Given the description of an element on the screen output the (x, y) to click on. 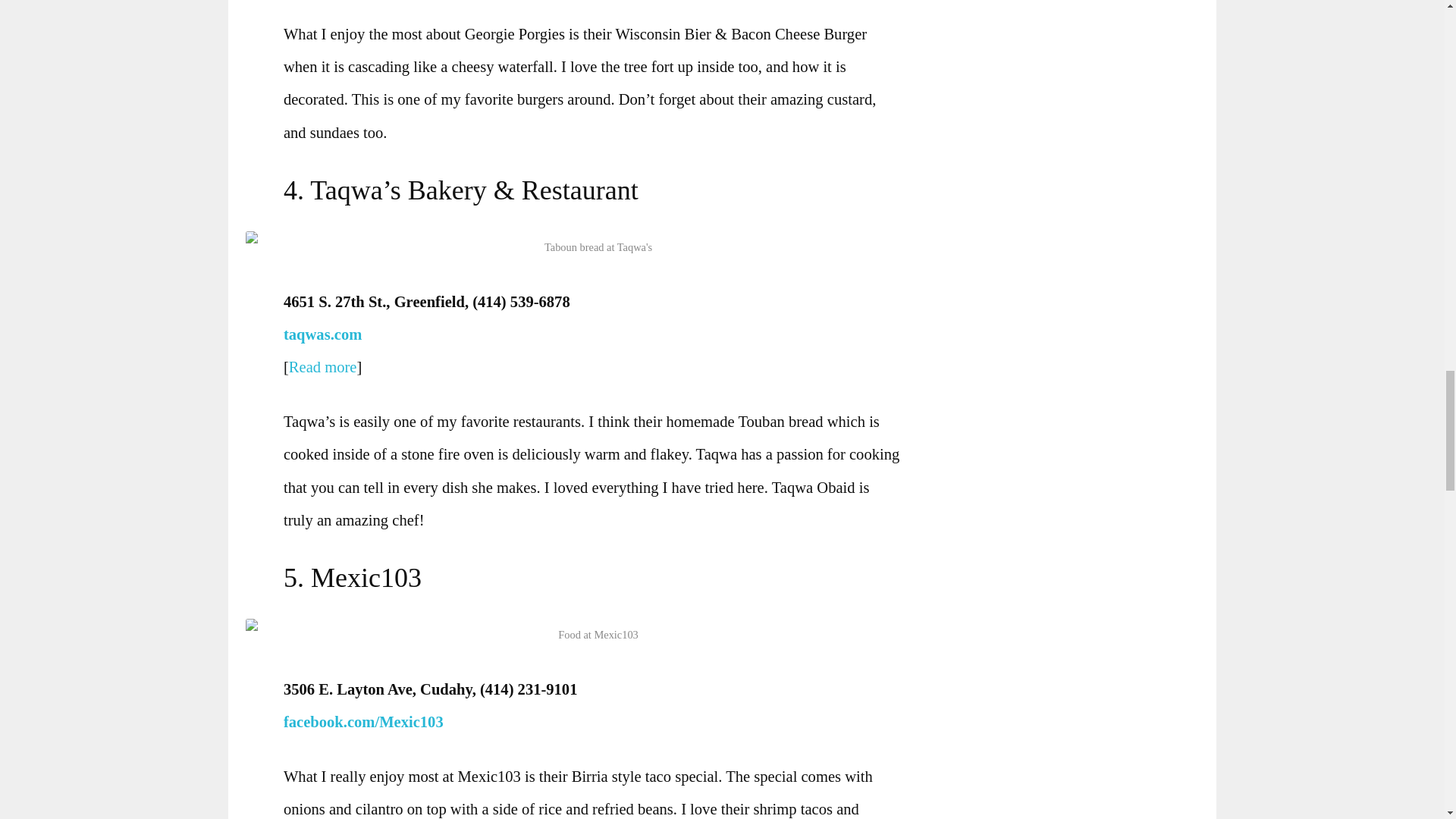
Read more (322, 366)
taqwas.com (322, 334)
